Given the description of an element on the screen output the (x, y) to click on. 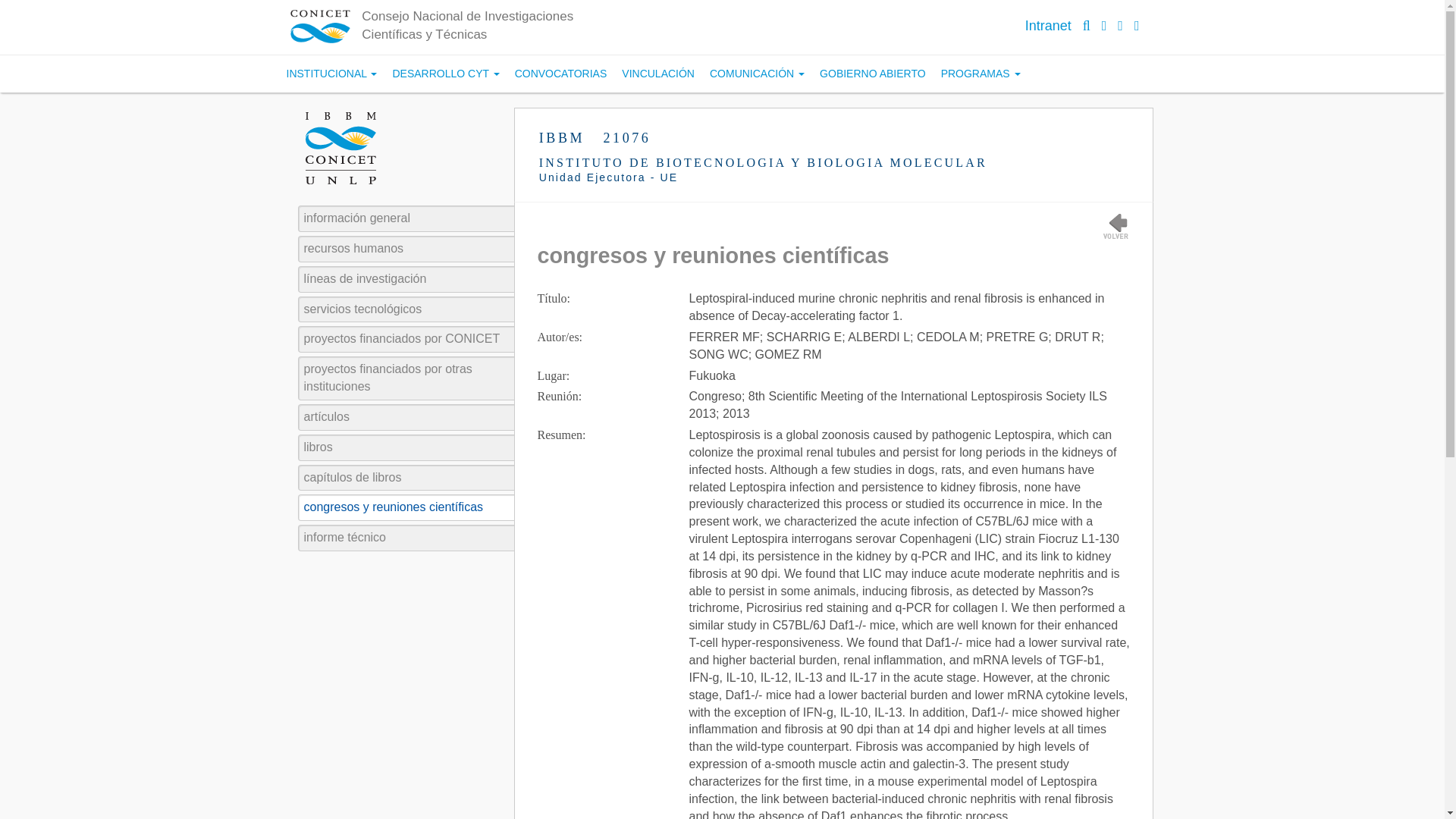
Contacto (1137, 25)
DESARROLLO CYT (445, 73)
Intranet (1048, 25)
INSTITUCIONAL (332, 73)
Buscador (1086, 25)
CONVOCATORIAS (560, 73)
Web Accesible (1120, 25)
PROGRAMAS (980, 73)
GOBIERNO ABIERTO (872, 73)
